Given the description of an element on the screen output the (x, y) to click on. 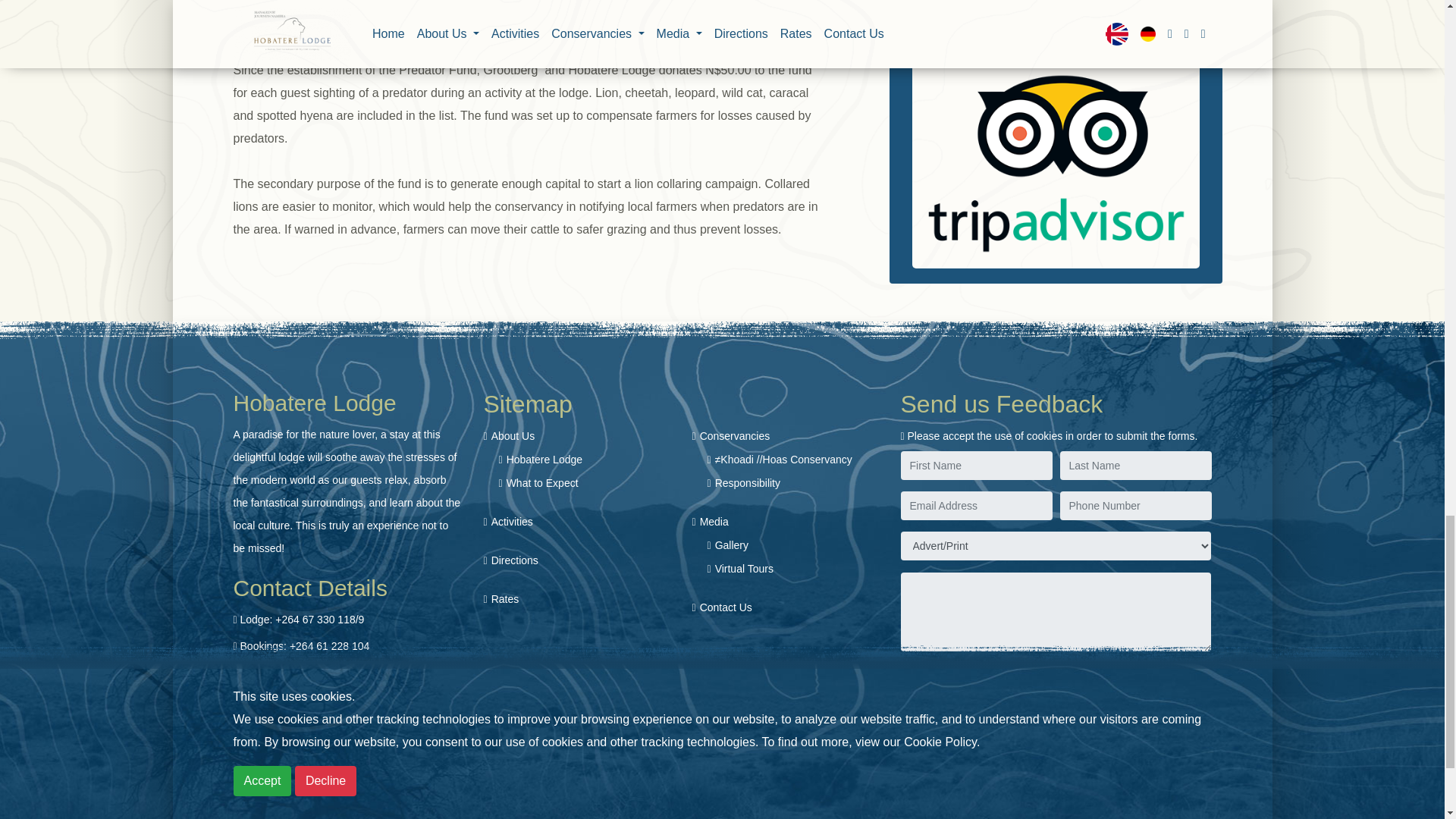
Lodge (302, 619)
Email (306, 698)
Trip Advisor (1055, 162)
Physical Address (340, 725)
Emergencies (317, 672)
Bookings (304, 645)
